Given the description of an element on the screen output the (x, y) to click on. 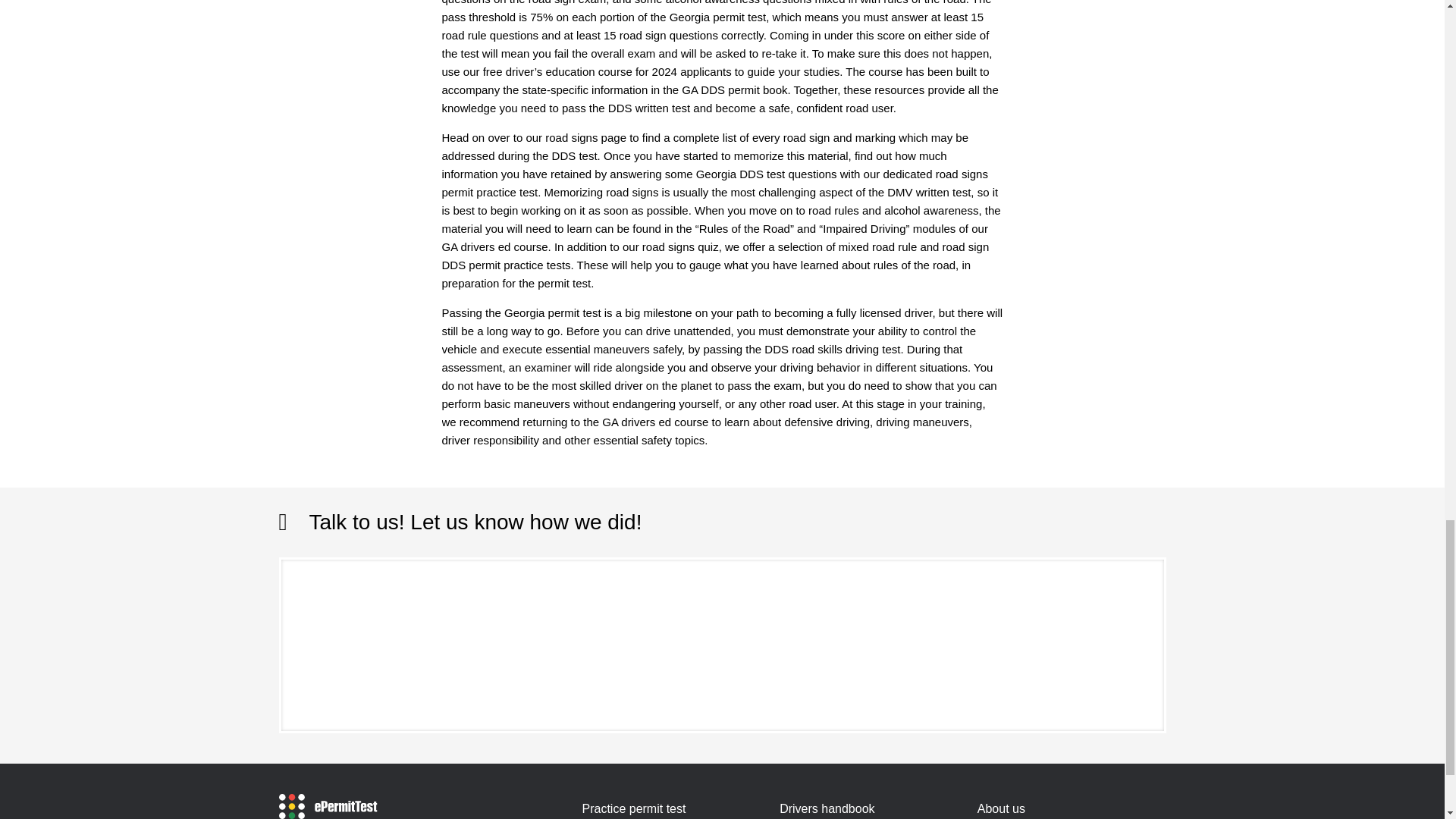
About us (1000, 809)
Practice permit test (632, 809)
Drivers handbook (826, 809)
Practice permit test (632, 809)
